Given the description of an element on the screen output the (x, y) to click on. 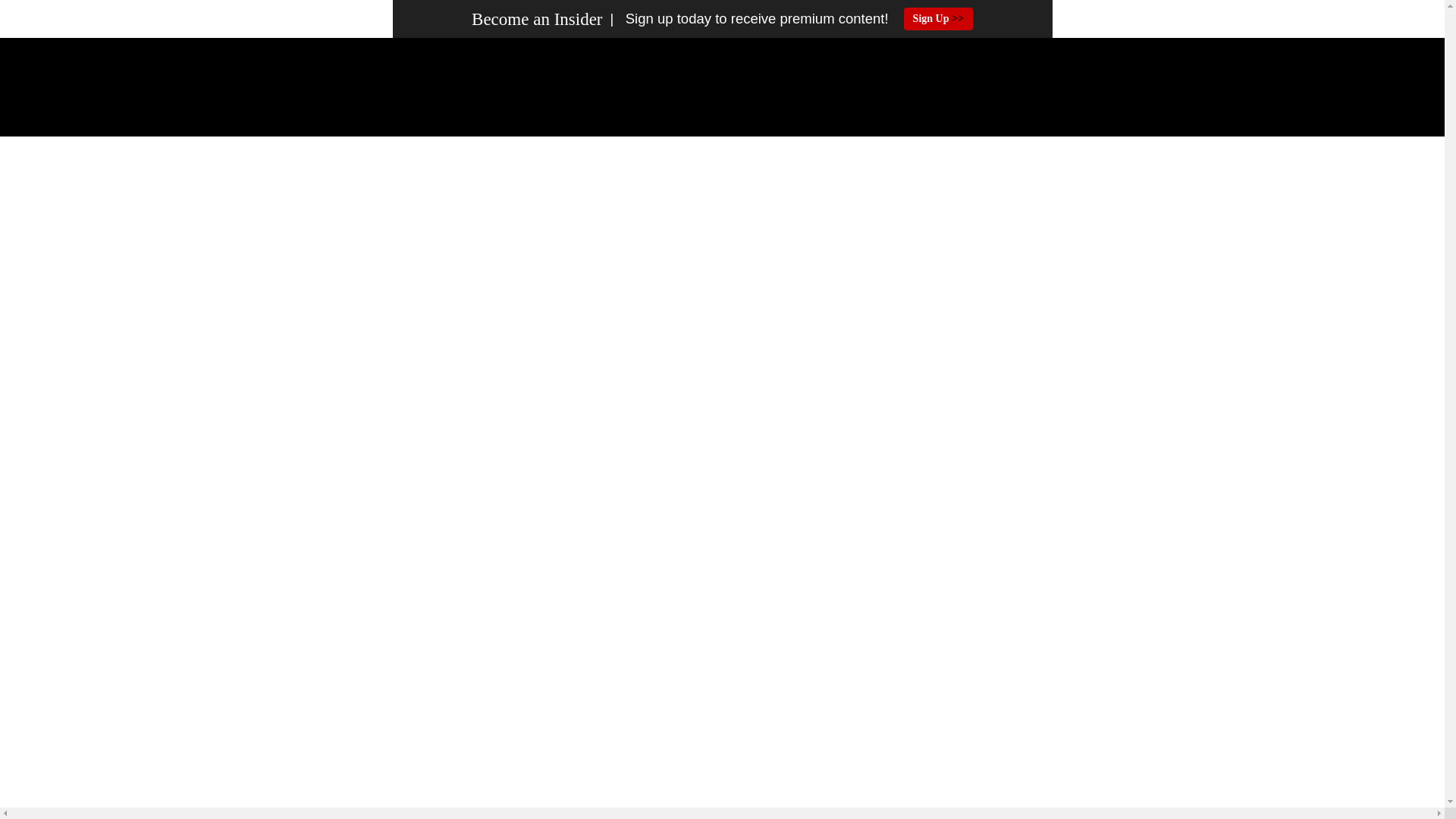
Sign Up (938, 18)
Sign up today to receive premium content! (745, 19)
Become an Insider (536, 18)
